Given the description of an element on the screen output the (x, y) to click on. 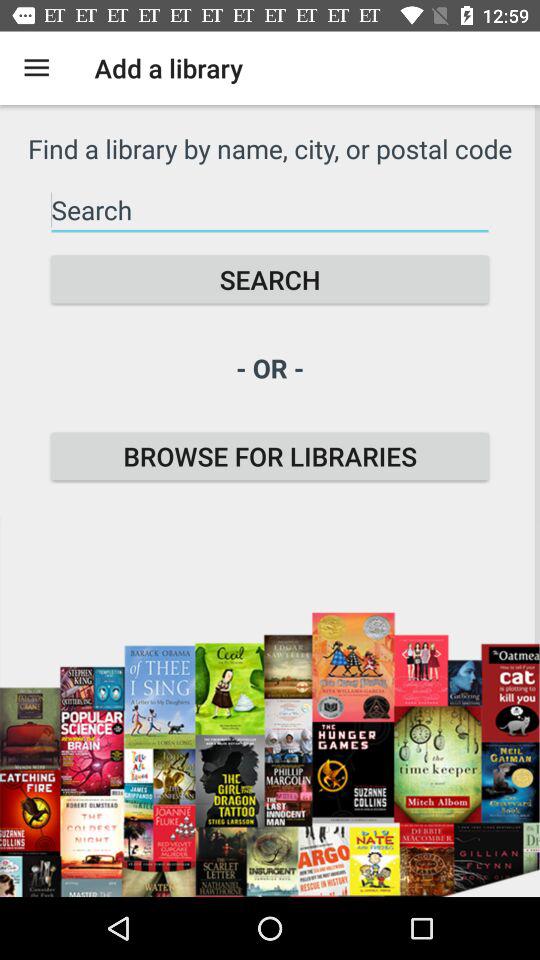
jump until browse for libraries icon (269, 455)
